Given the description of an element on the screen output the (x, y) to click on. 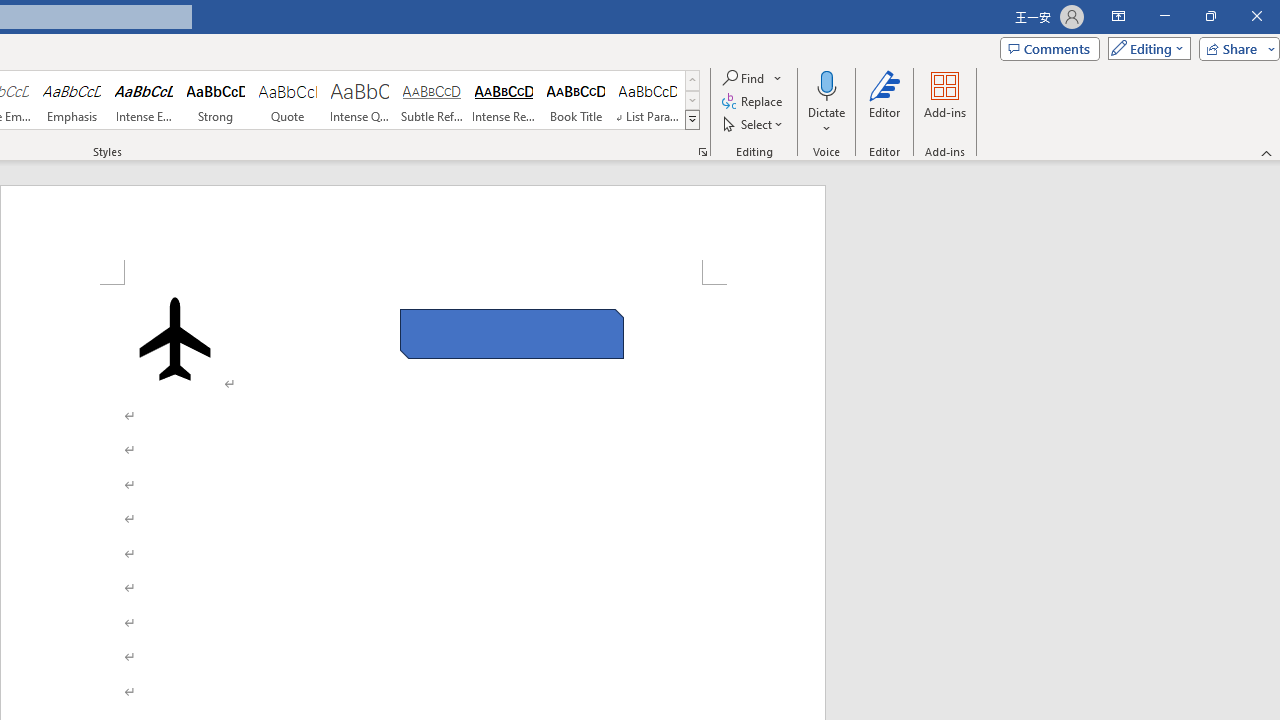
Intense Emphasis (143, 100)
Quote (287, 100)
Row Down (692, 100)
Select (754, 124)
Row up (692, 79)
Airplane with solid fill (175, 338)
Intense Quote (359, 100)
Rectangle: Diagonal Corners Snipped 2 (511, 333)
